Given the description of an element on the screen output the (x, y) to click on. 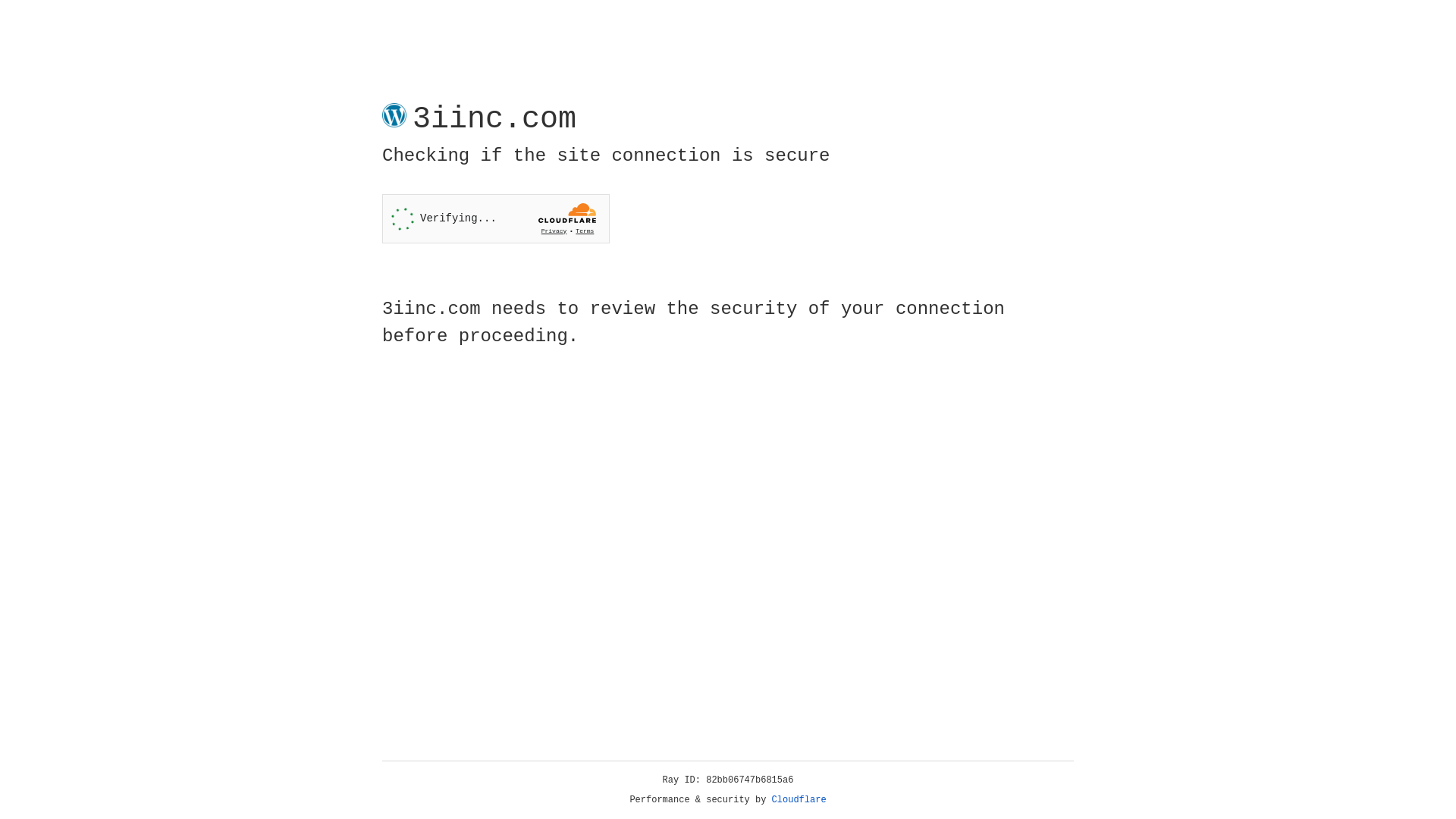
Cloudflare Element type: text (798, 799)
Widget containing a Cloudflare security challenge Element type: hover (495, 218)
